Given the description of an element on the screen output the (x, y) to click on. 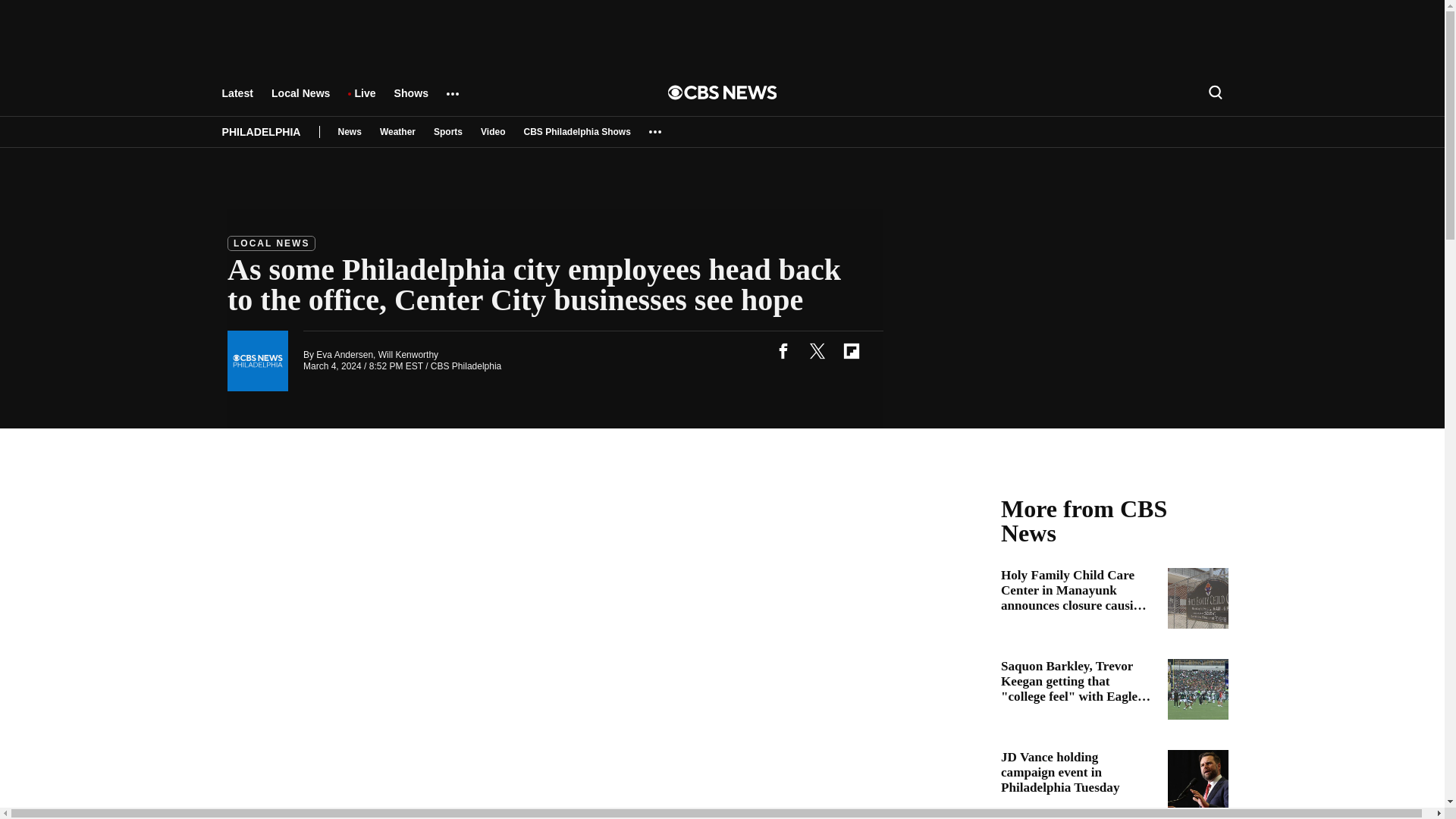
Latest (236, 100)
flipboard (850, 350)
Local News (300, 100)
facebook (782, 350)
twitter (816, 350)
